Given the description of an element on the screen output the (x, y) to click on. 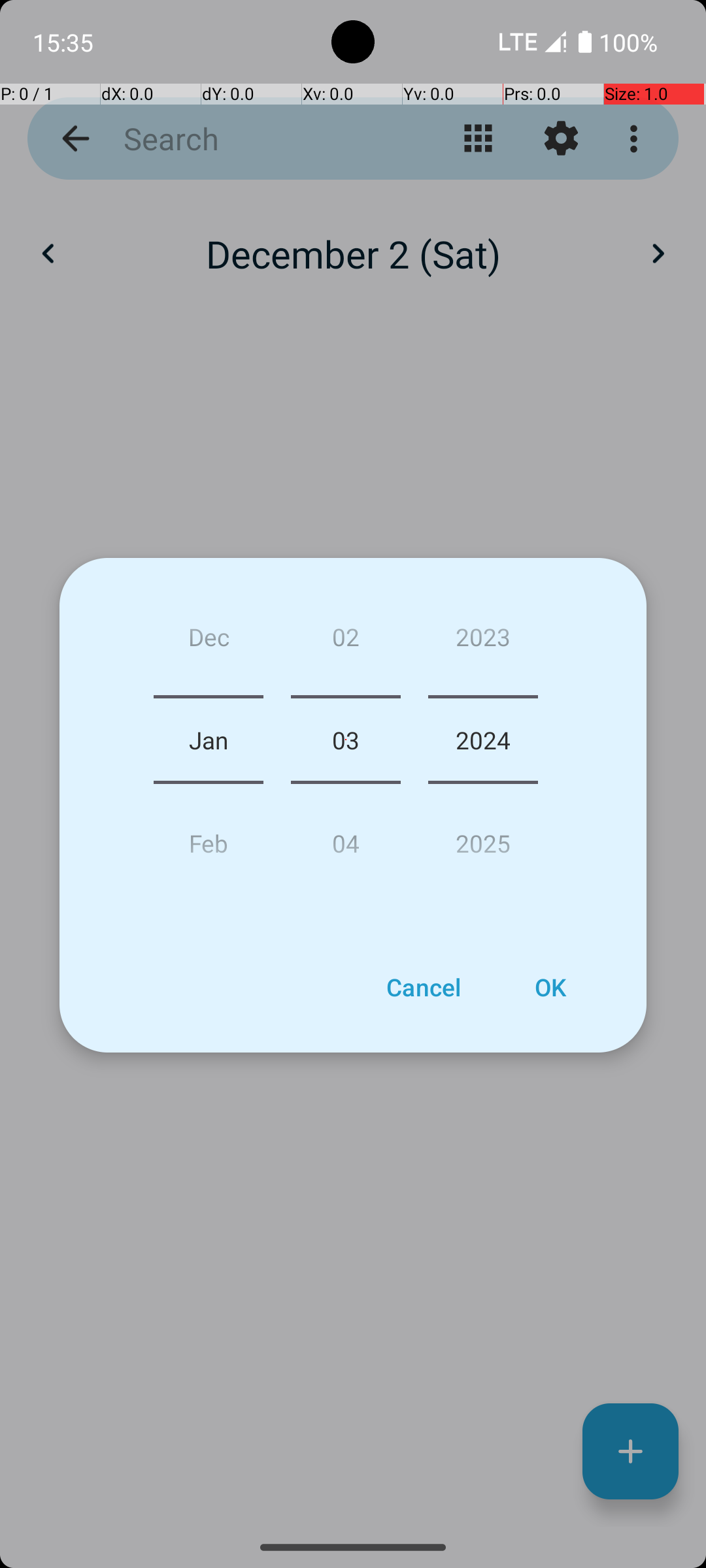
Dec Element type: android.widget.Button (208, 641)
Jan Element type: android.widget.EditText (208, 739)
Feb Element type: android.widget.Button (208, 837)
02 Element type: android.widget.Button (345, 641)
03 Element type: android.widget.EditText (345, 739)
04 Element type: android.widget.Button (345, 837)
